Given the description of an element on the screen output the (x, y) to click on. 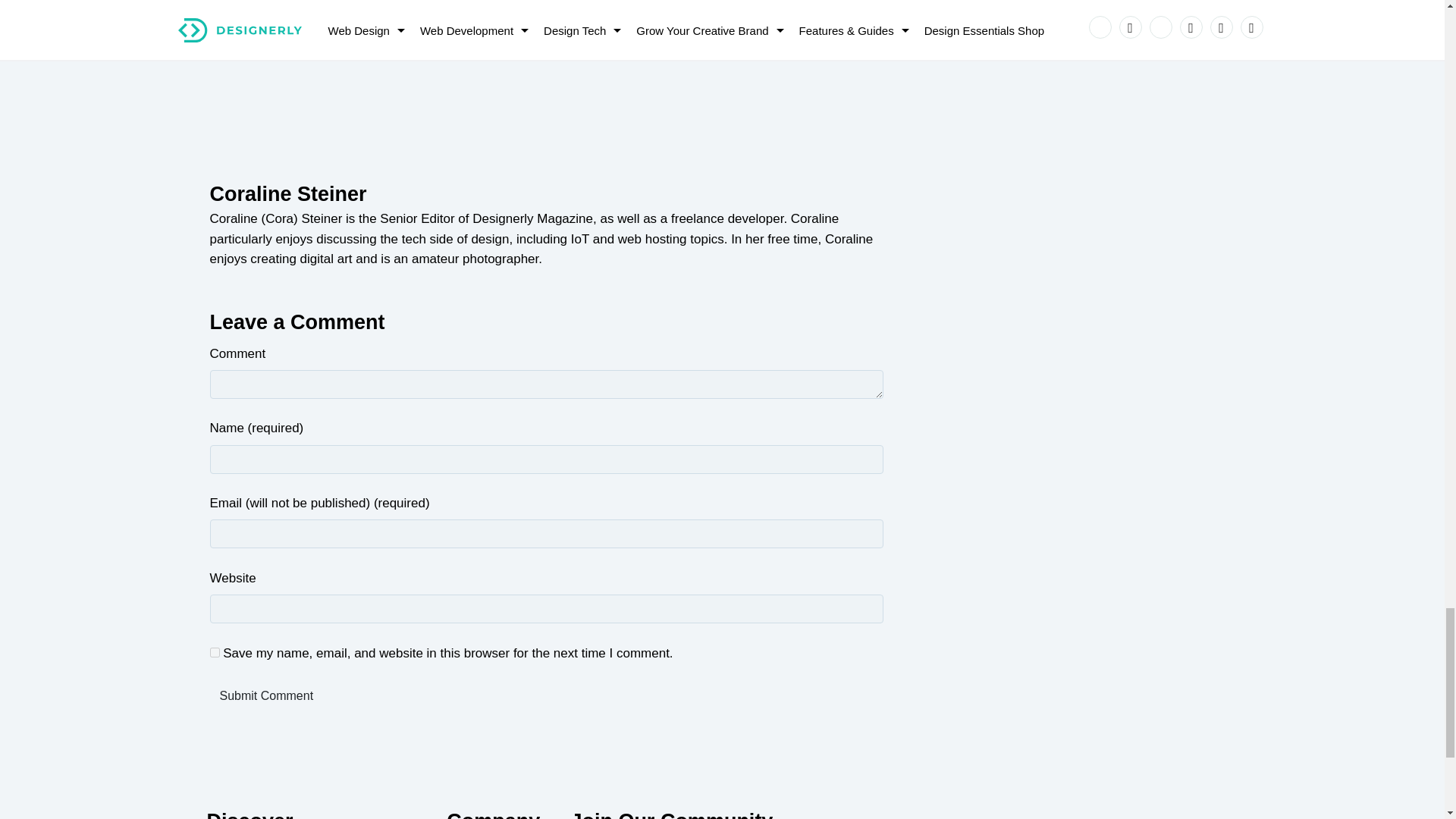
Submit Comment (266, 695)
yes (214, 652)
